Given the description of an element on the screen output the (x, y) to click on. 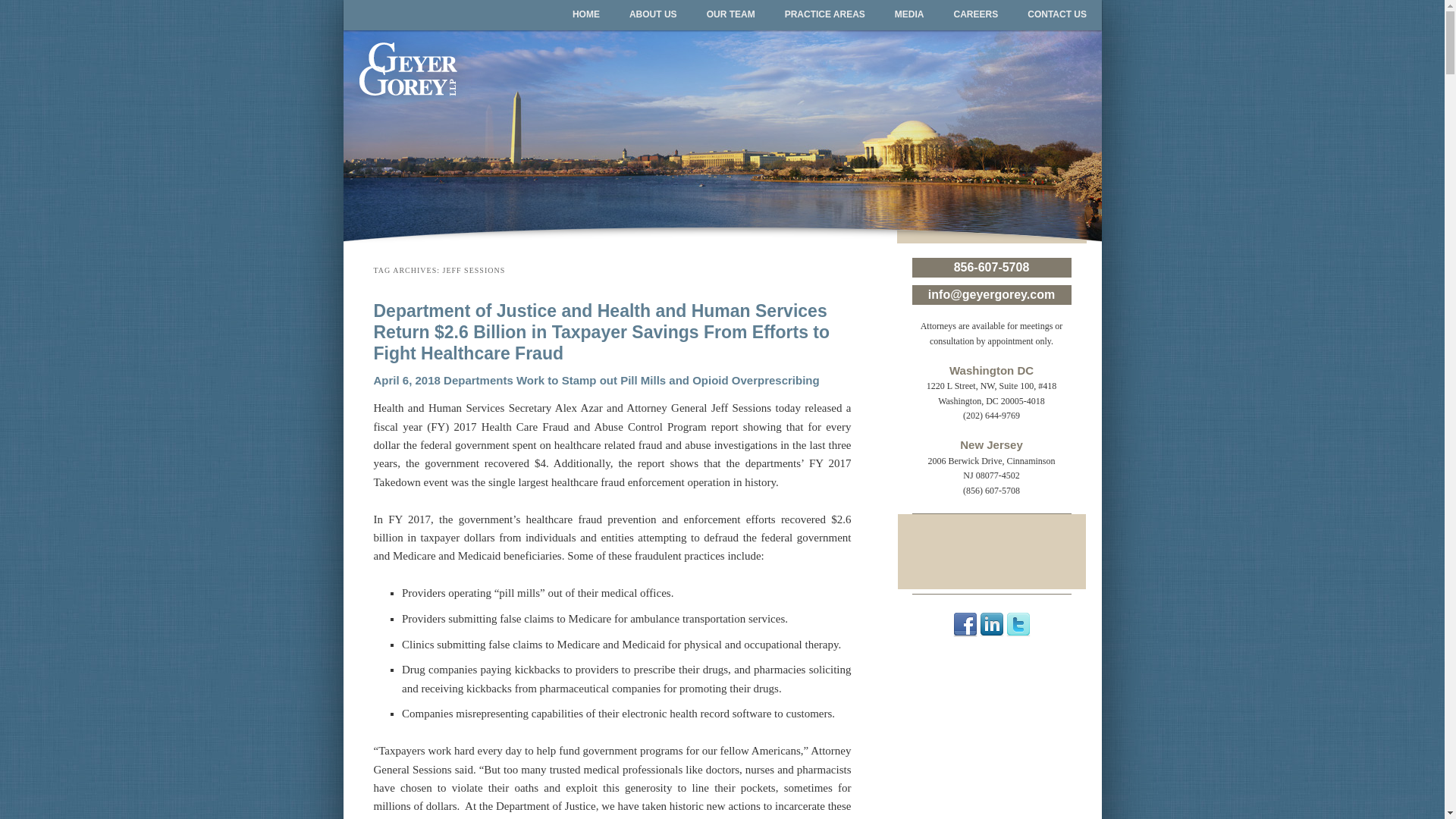
OUR TEAM (730, 15)
HOME (585, 15)
PRACTICE AREAS (824, 15)
CONTACT US (1057, 15)
GeyerGorey LLP (485, 54)
GeyerGorey LLP (485, 54)
ABOUT US (652, 15)
MEDIA (909, 15)
